Given the description of an element on the screen output the (x, y) to click on. 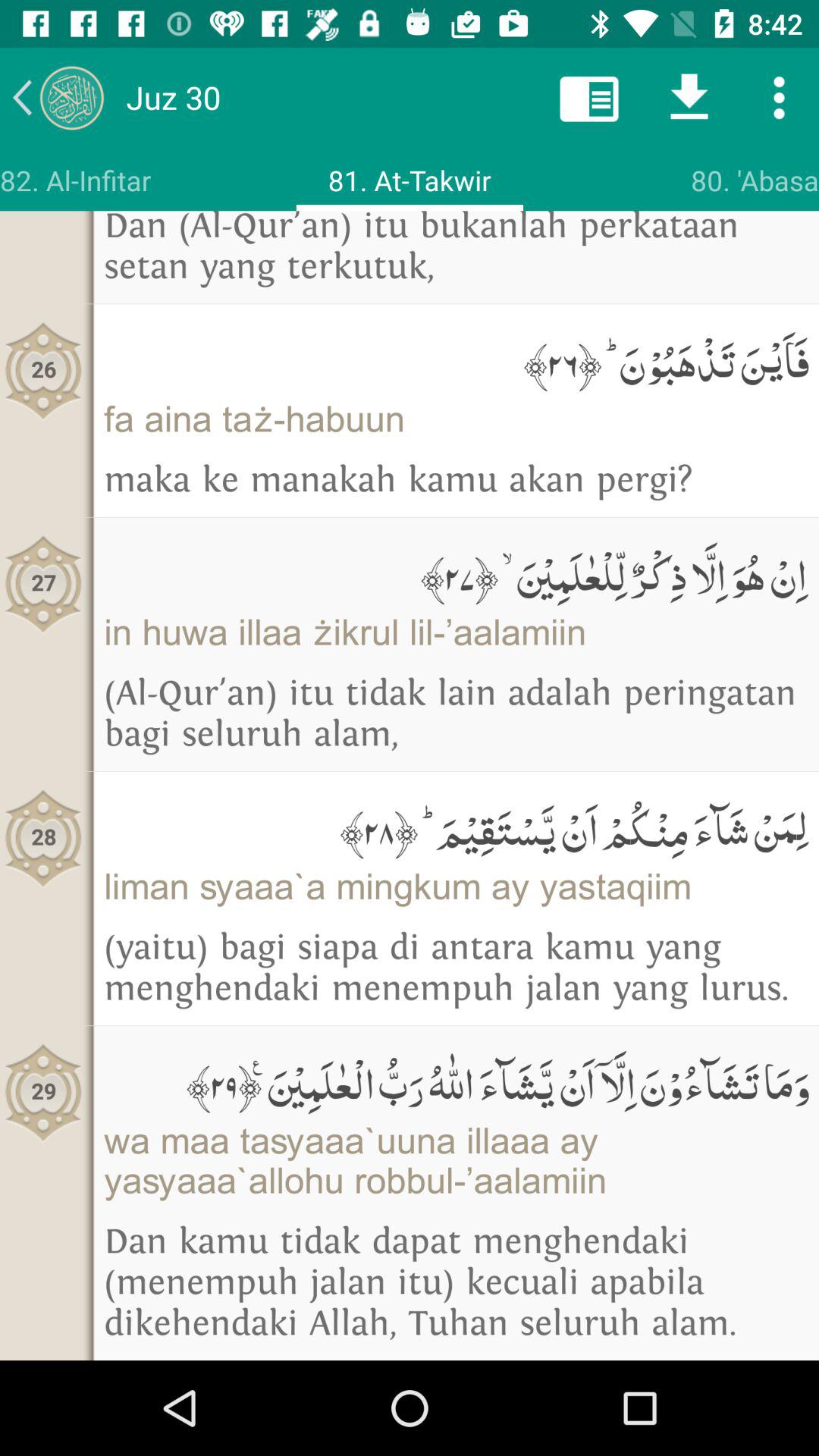
launch the icon above in huwa illaa (456, 572)
